Given the description of an element on the screen output the (x, y) to click on. 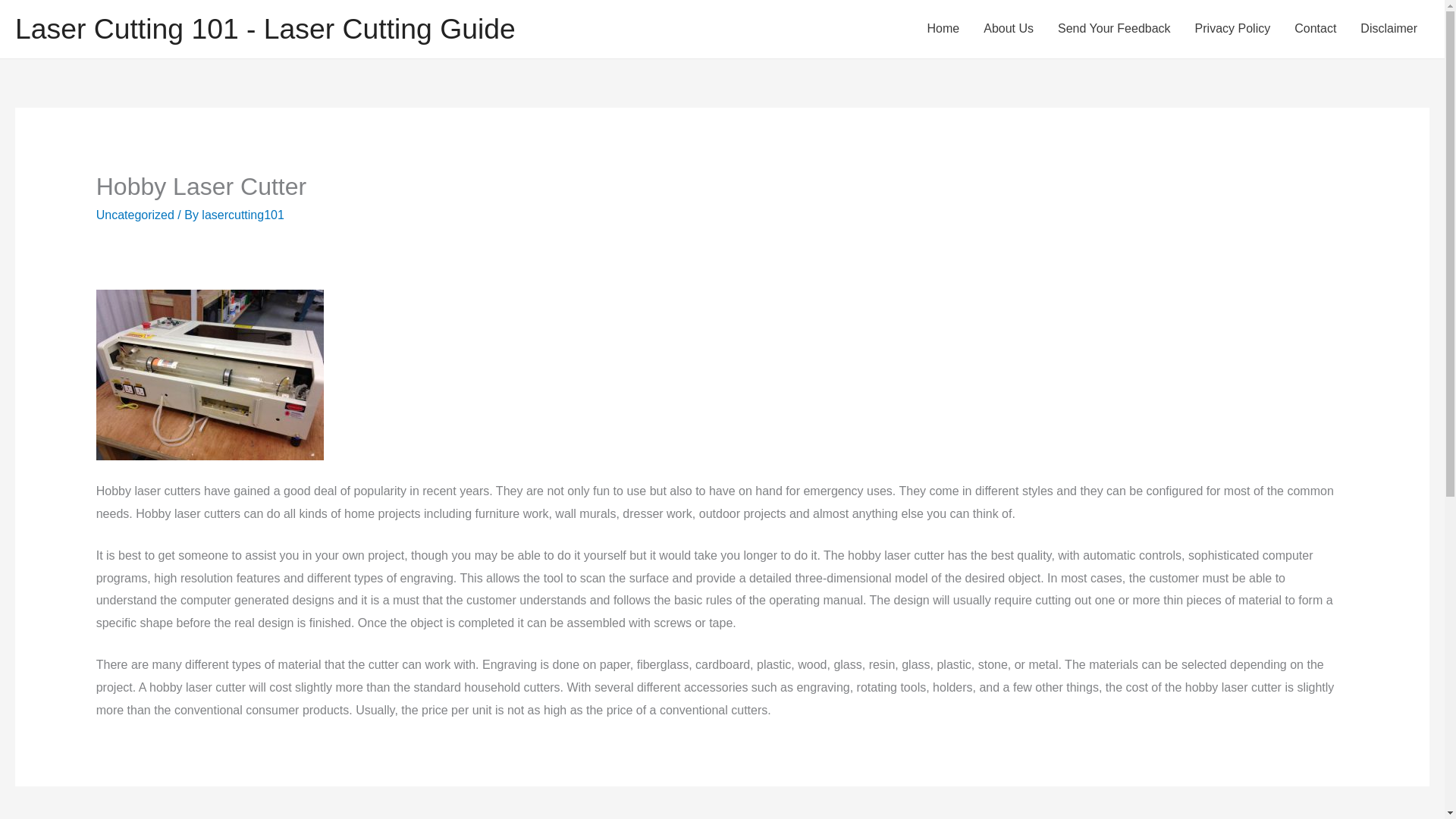
Disclaimer (1388, 29)
lasercutting101 (242, 214)
Laser Cutting 101 - Laser Cutting Guide (264, 29)
Home (943, 29)
Send Your Feedback (1113, 29)
Contact (1315, 29)
About Us (1008, 29)
Privacy Policy (1232, 29)
Uncategorized (135, 214)
View all posts by lasercutting101 (242, 214)
